Given the description of an element on the screen output the (x, y) to click on. 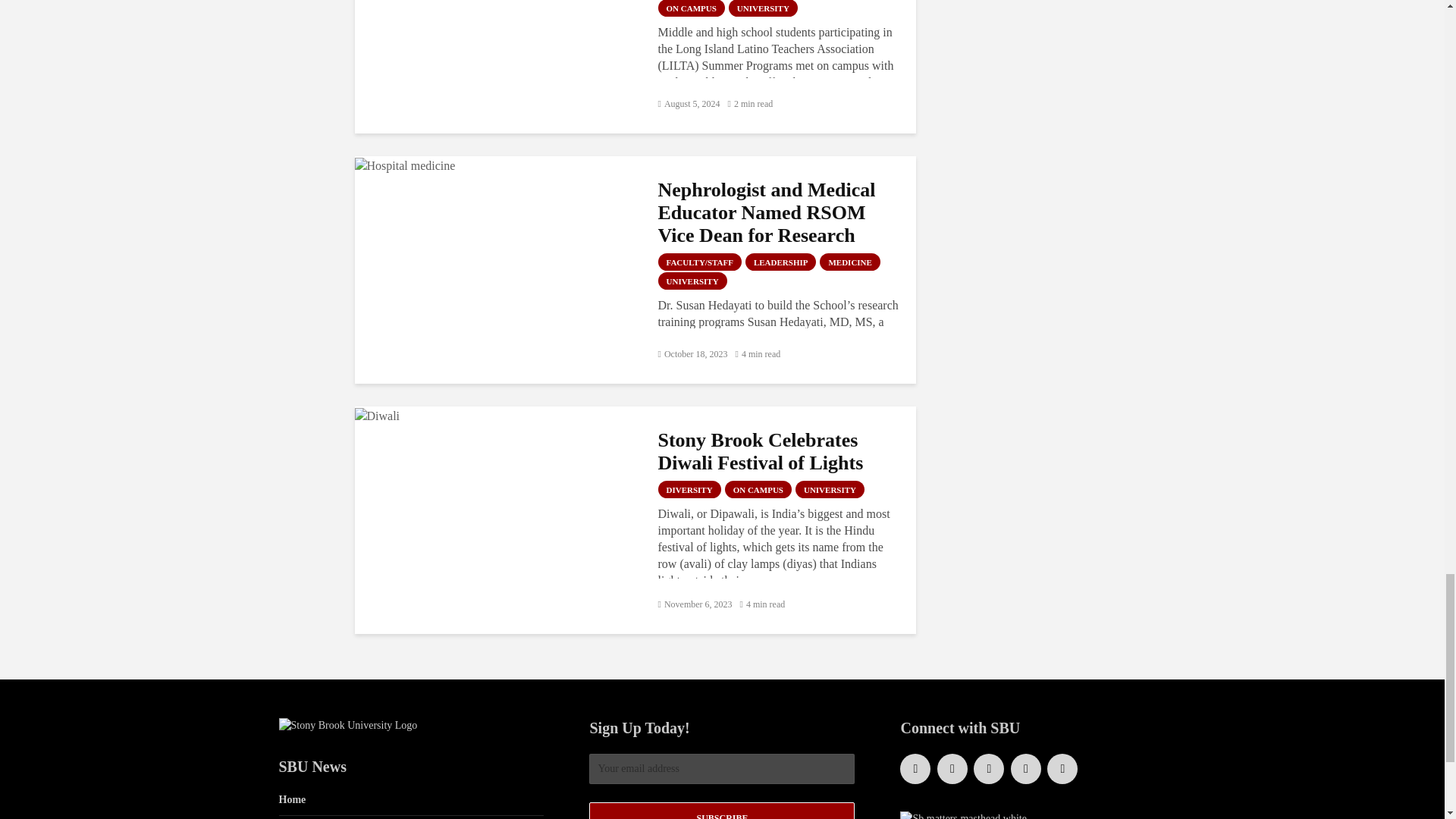
Subscribe (721, 810)
